Given the description of an element on the screen output the (x, y) to click on. 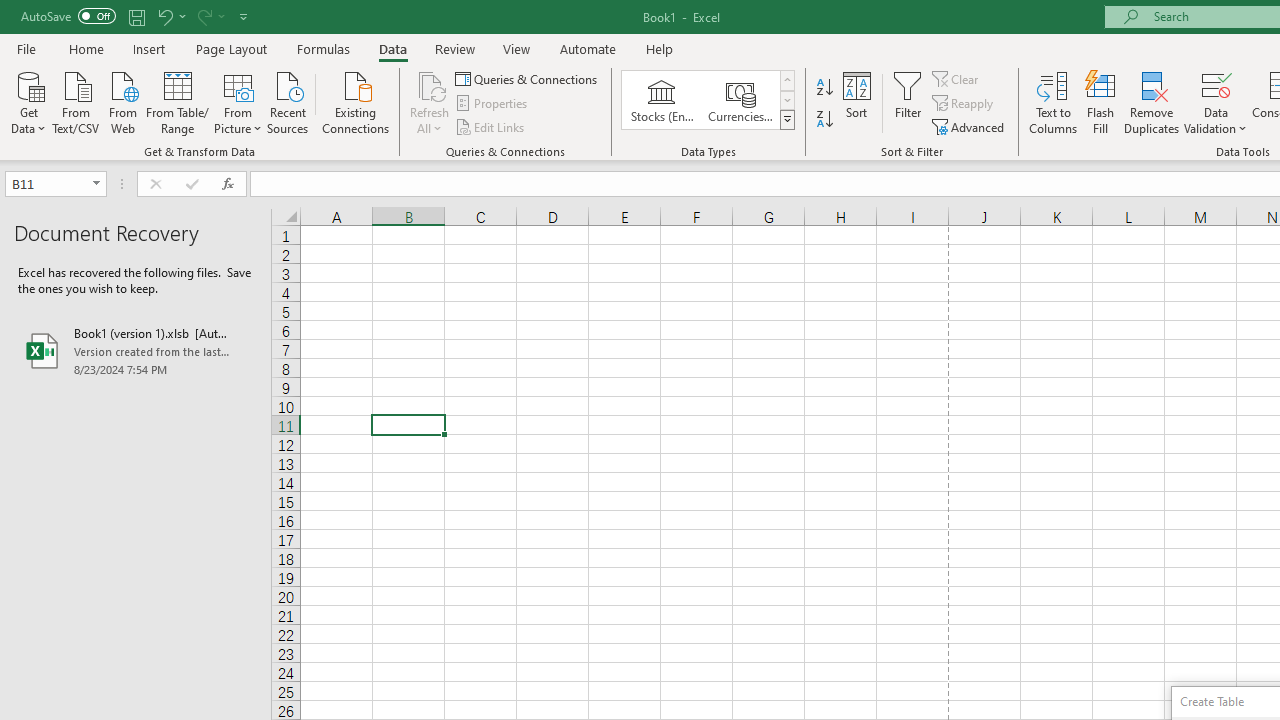
Automate (588, 48)
AutoSave (68, 16)
Sort A to Z (824, 87)
Properties (492, 103)
Row Down (786, 100)
AutomationID: ConvertToLinkedEntity (708, 99)
Data Validation... (1215, 102)
Clear (957, 78)
Text to Columns... (1053, 102)
Existing Connections (355, 101)
